Given the description of an element on the screen output the (x, y) to click on. 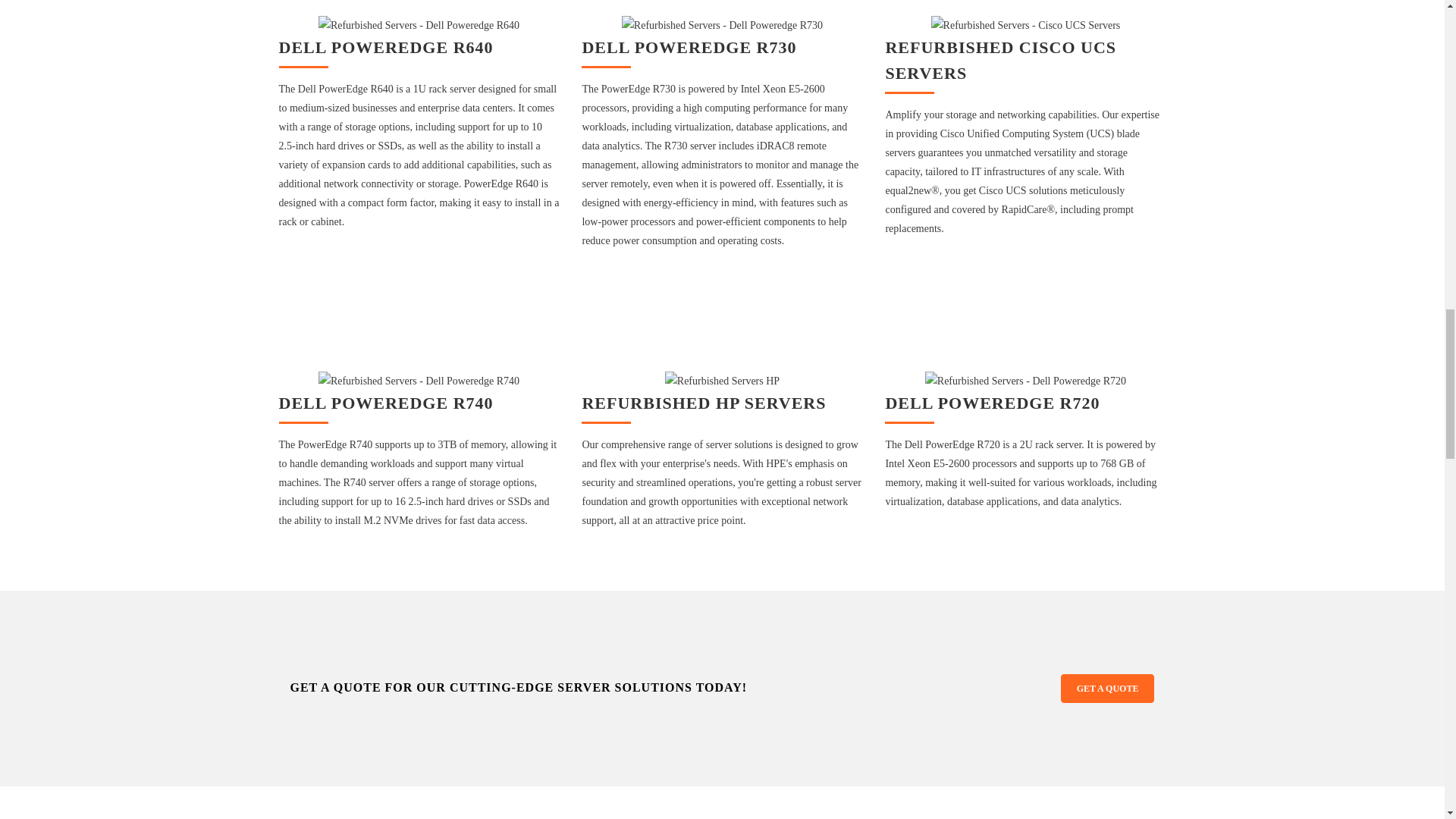
Refurbished Servers - Dell Poweredge R720 (1024, 380)
Refurbished Servers - Cisco UCS Servers (1026, 25)
Refurbished Servers HP (721, 380)
Refurbished Servers - Dell Poweredge R740 (418, 380)
Refurbished Servers - Dell Poweredge R640 (418, 25)
Refurbished Servers - Dell Poweredge R730 (721, 25)
